Given the description of an element on the screen output the (x, y) to click on. 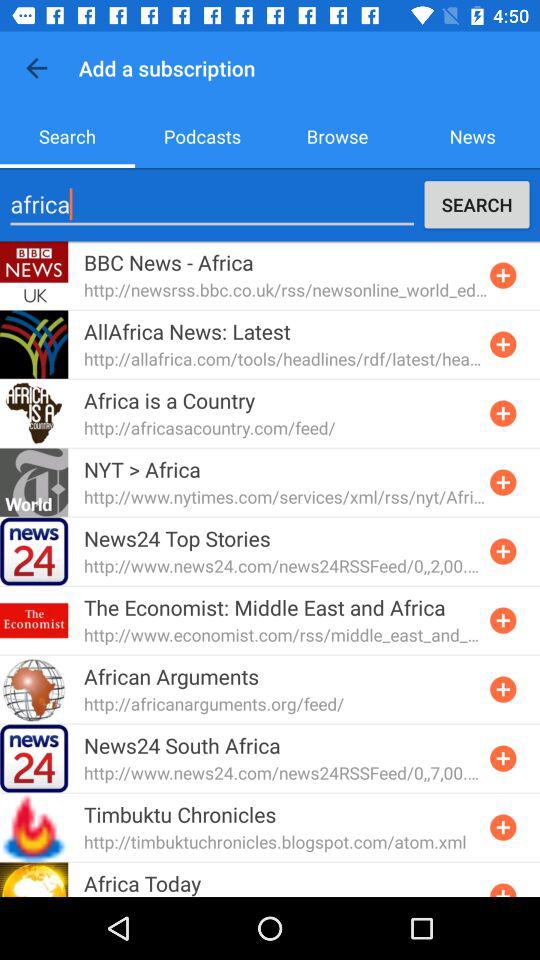
flip to africa is a icon (169, 400)
